Given the description of an element on the screen output the (x, y) to click on. 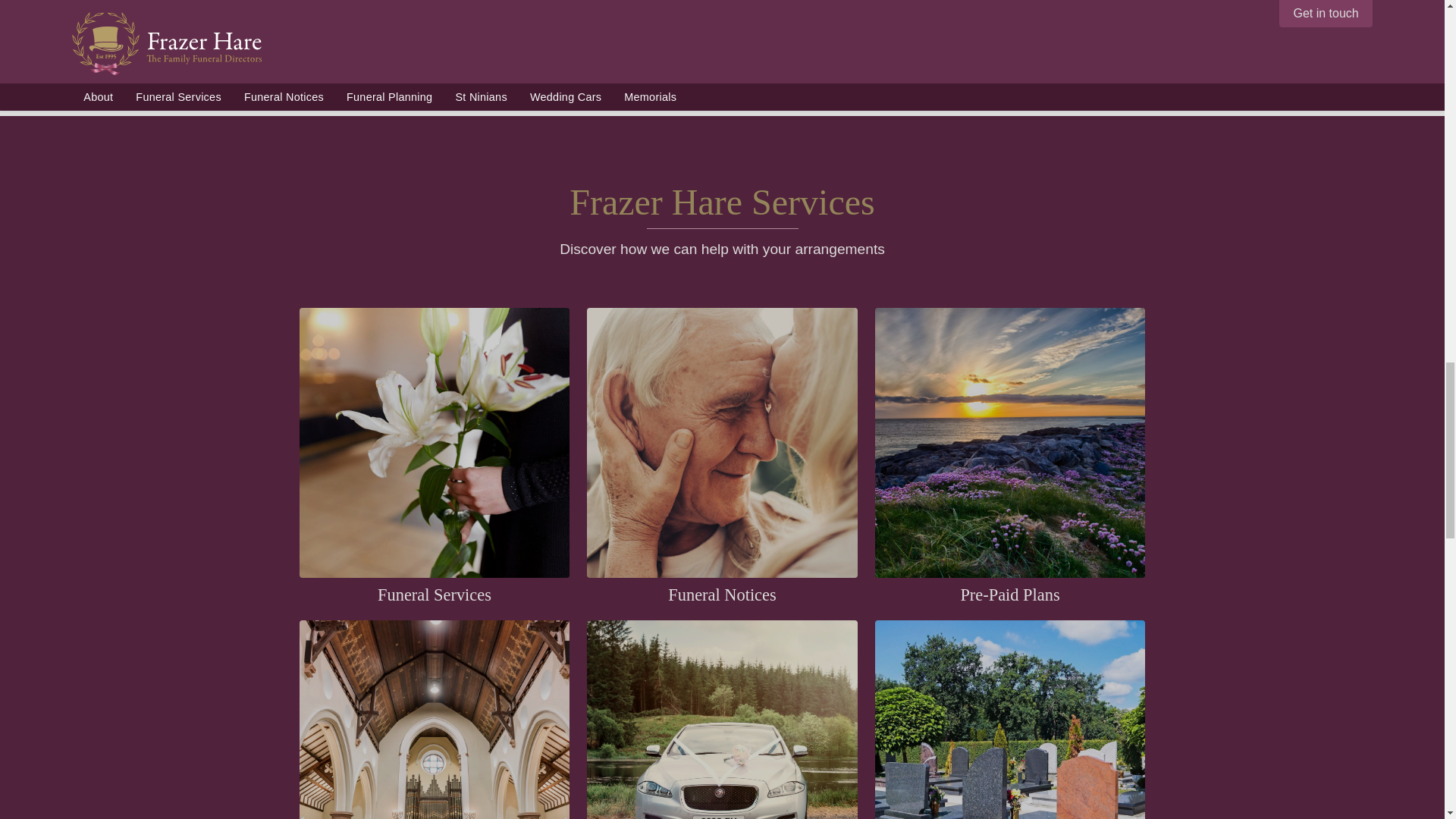
Pre-Paid Plans (1010, 595)
Read About Us (722, 25)
Funeral Services (434, 595)
Funeral Notices (721, 595)
